Given the description of an element on the screen output the (x, y) to click on. 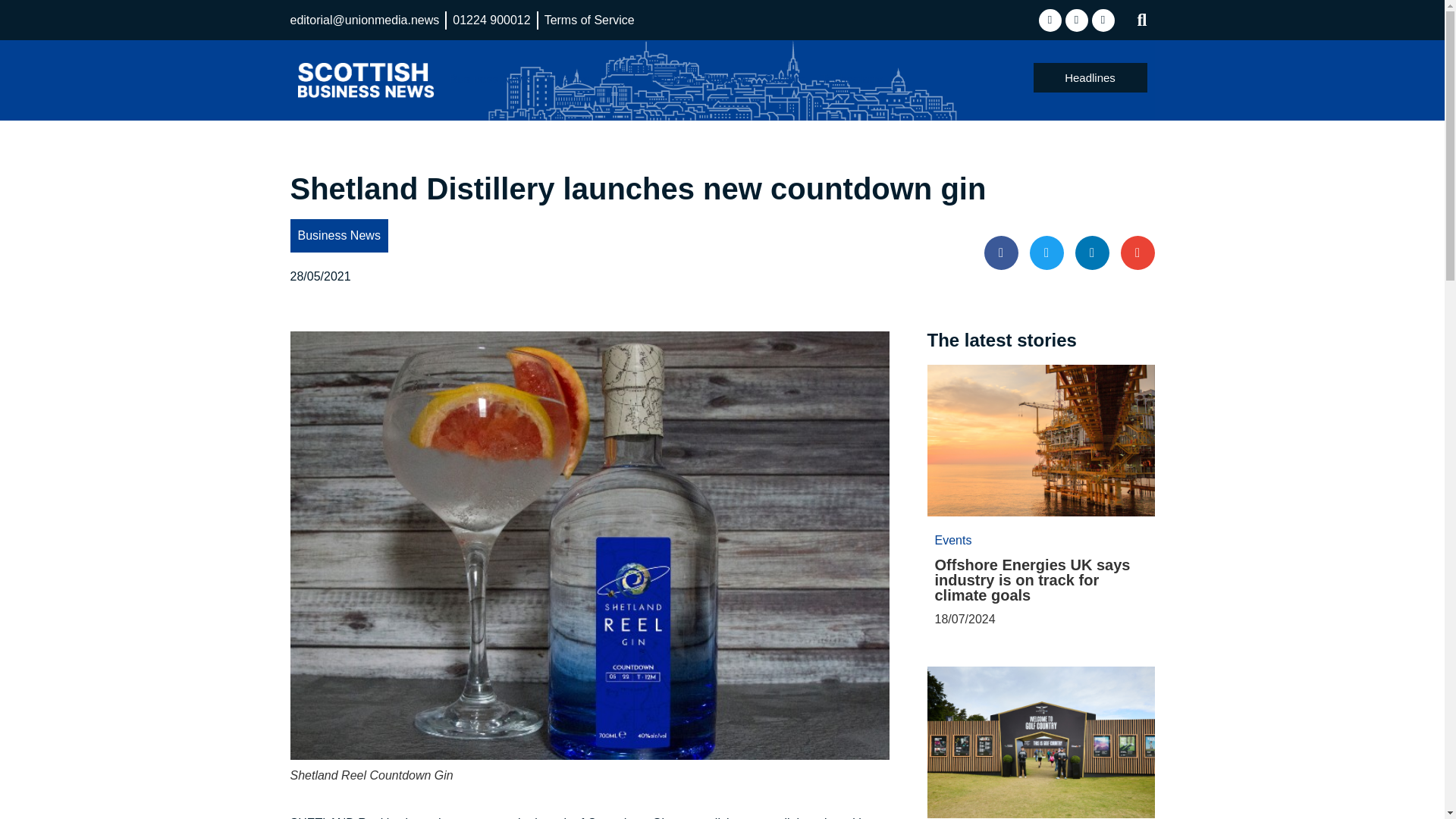
Terms of Service (589, 19)
Business News (489, 78)
01224 900012 (490, 19)
Legal (620, 78)
Finance (569, 78)
